Given the description of an element on the screen output the (x, y) to click on. 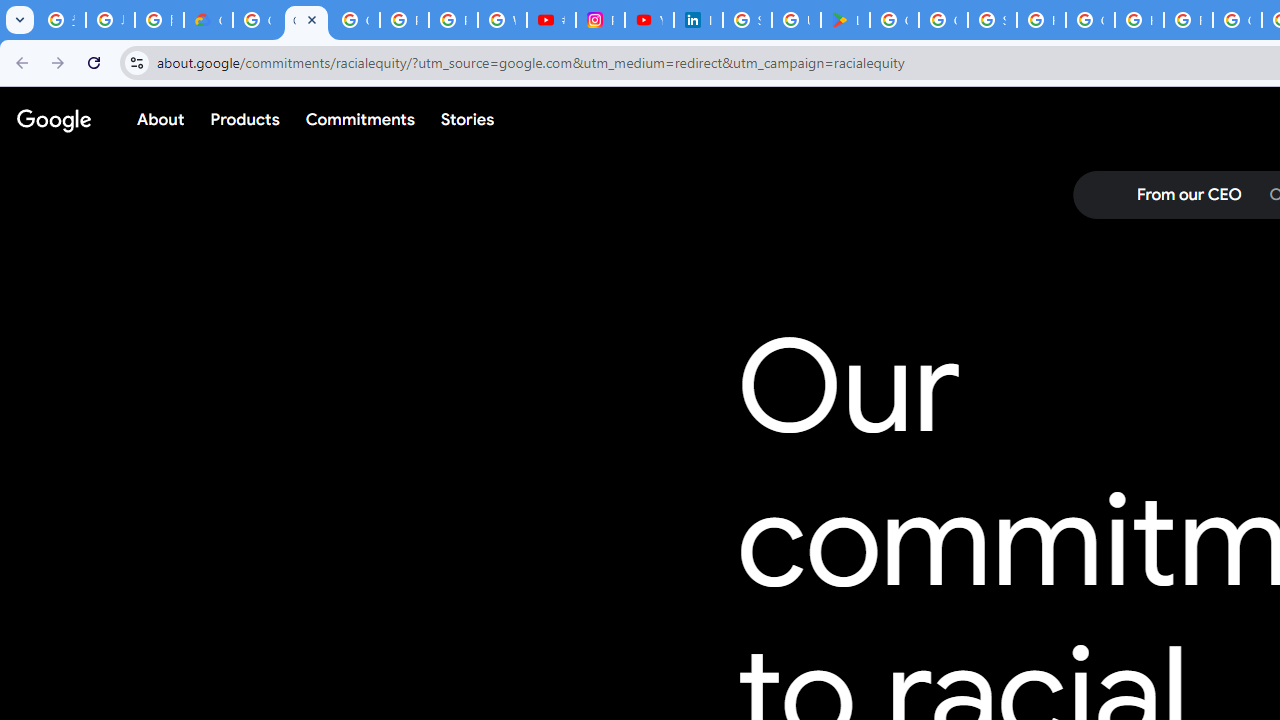
Sign in - Google Accounts (747, 20)
Stories (467, 119)
